Given the description of an element on the screen output the (x, y) to click on. 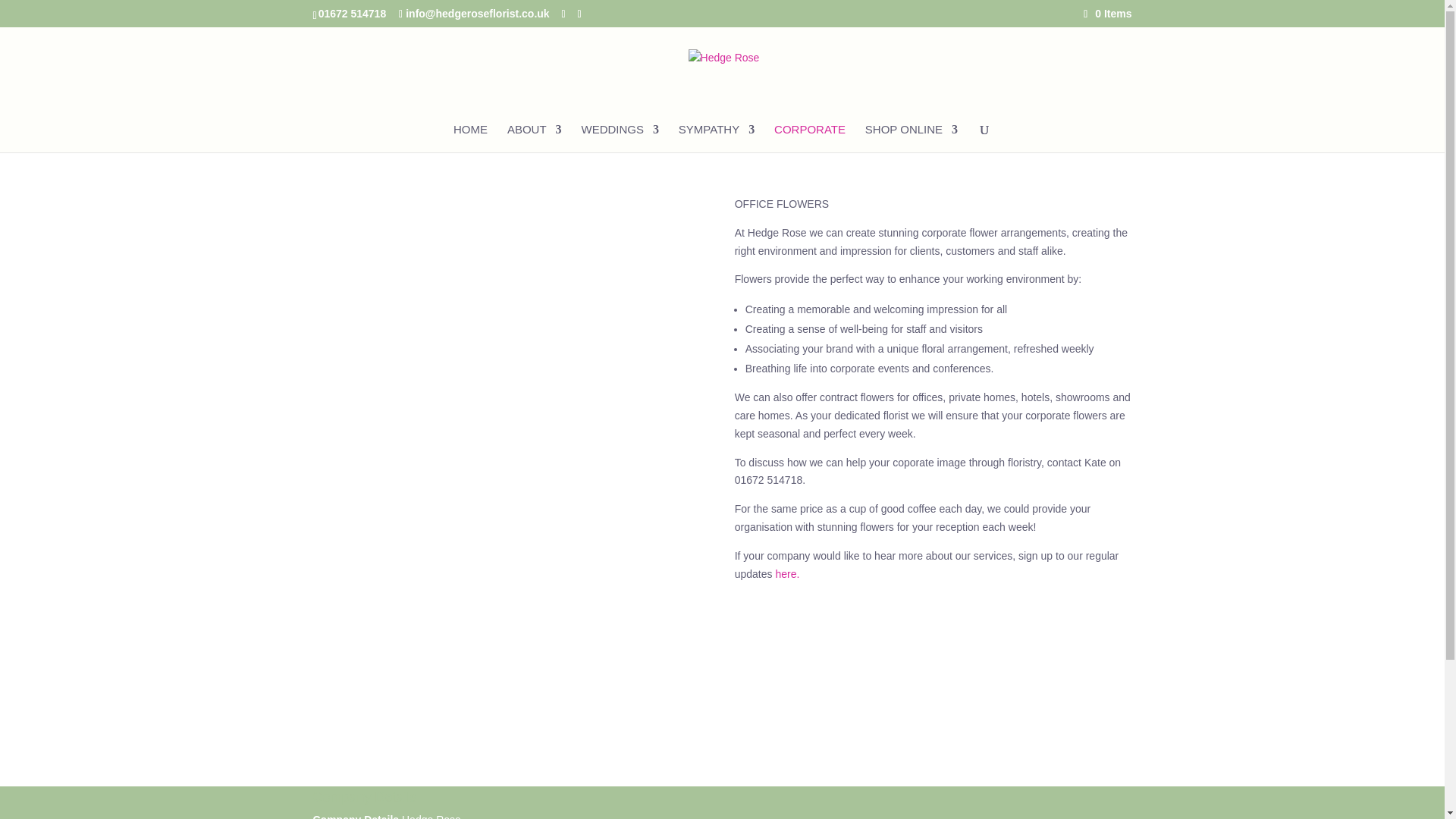
0 Items (1107, 13)
ABOUT (534, 138)
HOME (469, 138)
CORPORATE (809, 138)
WEDDINGS (619, 138)
SHOP ONLINE (911, 138)
SYMPATHY (716, 138)
